Given the description of an element on the screen output the (x, y) to click on. 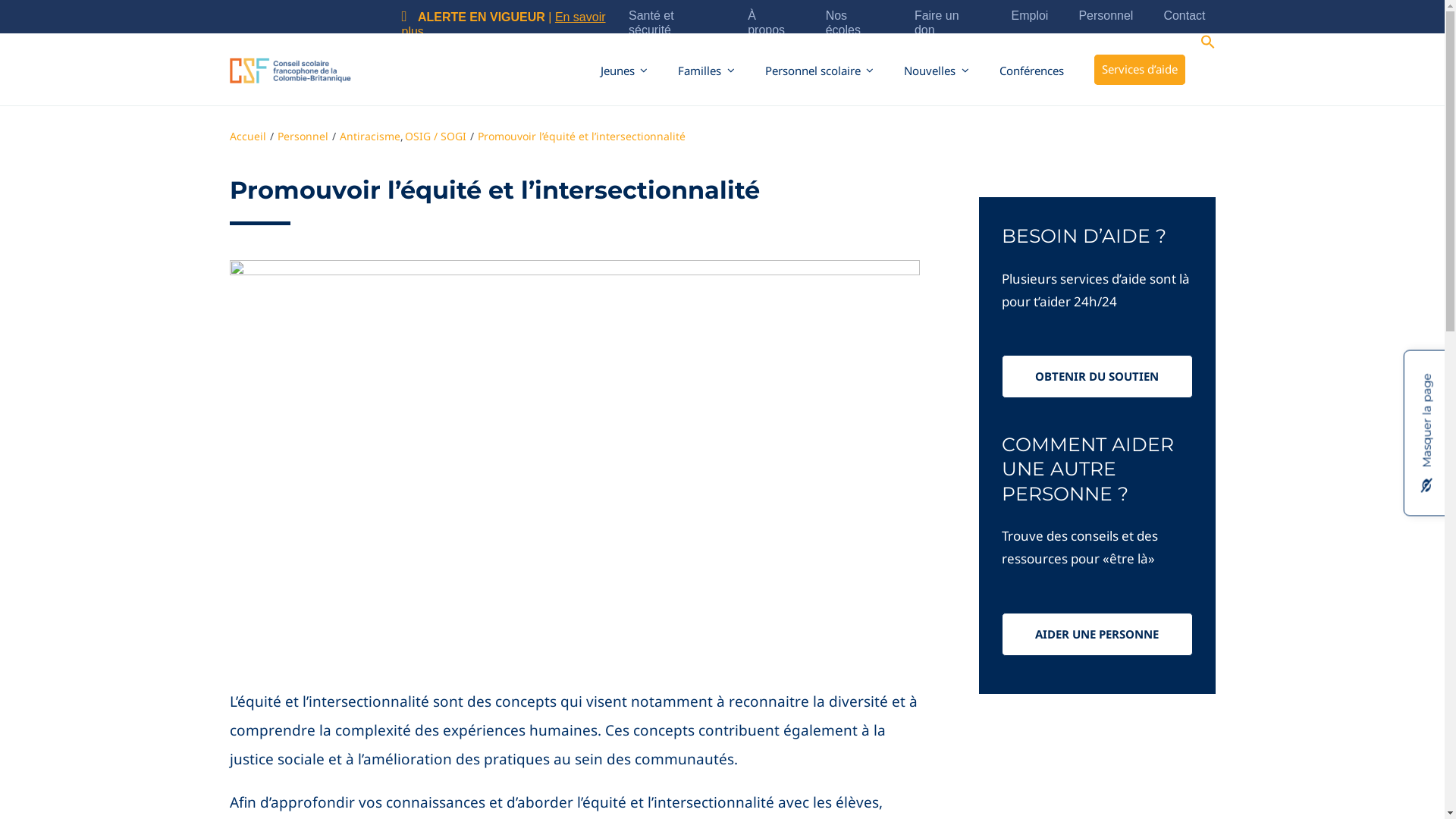
Jeunes Element type: text (624, 69)
Antiracisme Element type: text (369, 135)
Personnel Element type: text (302, 135)
Personnel scolaire Element type: text (818, 69)
Accueil Element type: text (247, 135)
OSIG / SOGI Element type: text (435, 135)
Familles Element type: text (705, 69)
OBTENIR DU SOUTIEN Element type: text (1096, 376)
AIDER UNE PERSONNE Element type: text (1096, 633)
Nouvelles Element type: text (936, 69)
